Given the description of an element on the screen output the (x, y) to click on. 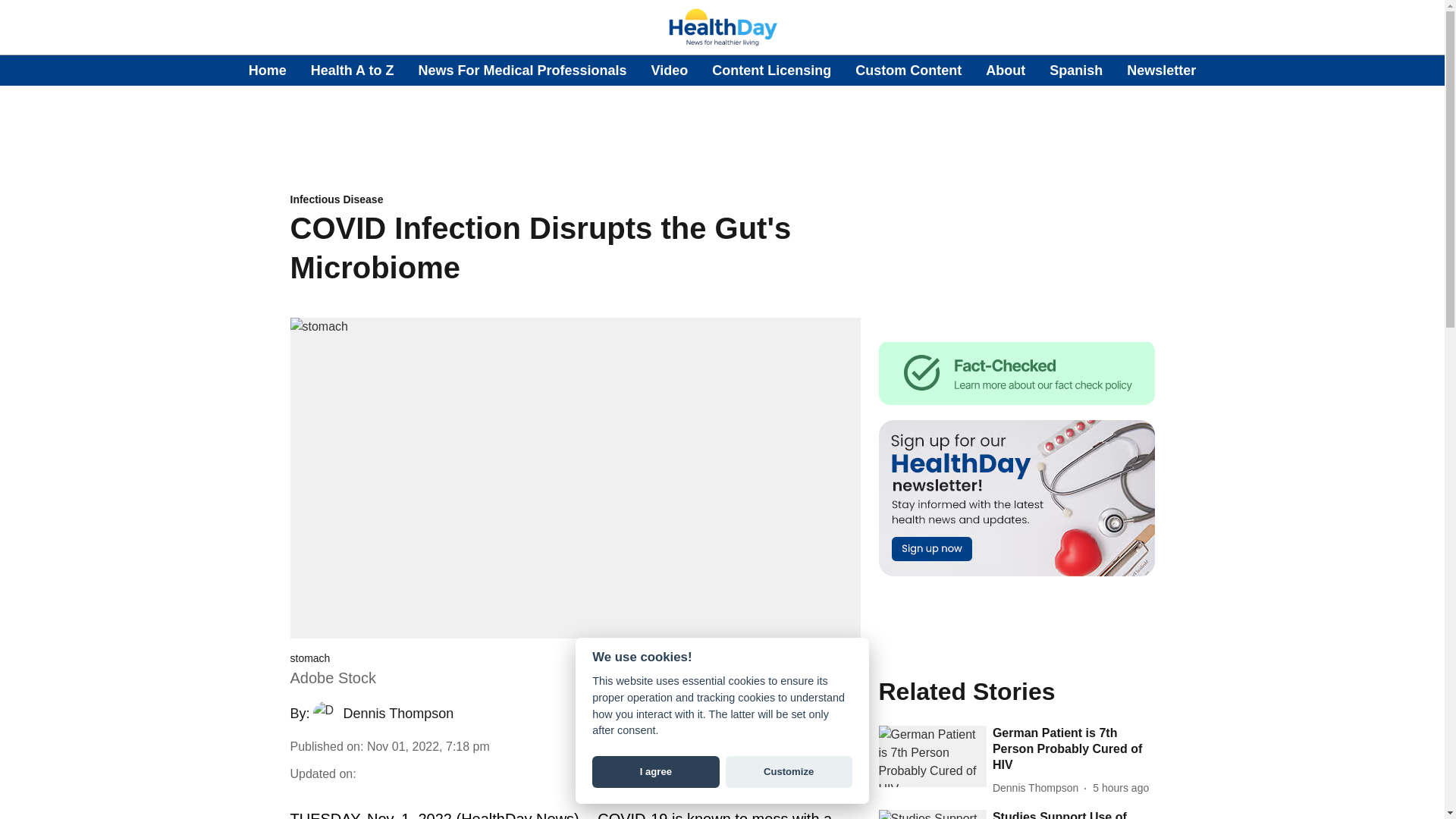
Health A to Z (352, 70)
Home (267, 70)
2022-11-01 11:18 (427, 746)
2024-07-19 14:26 (1120, 788)
